Given the description of an element on the screen output the (x, y) to click on. 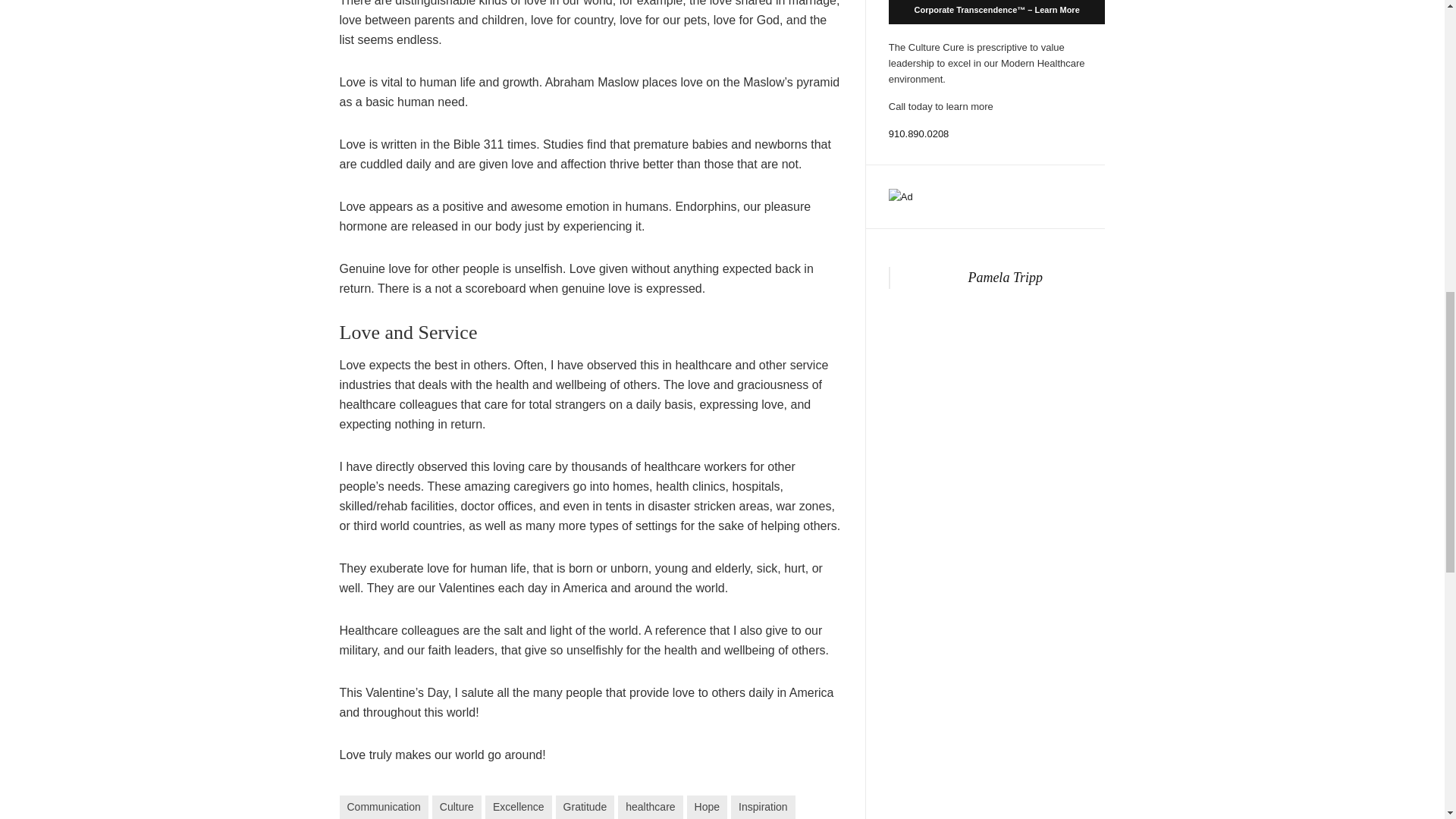
healthcare (649, 807)
Hope (706, 807)
Excellence (517, 807)
Communication (383, 807)
Gratitude (585, 807)
Inspiration (762, 807)
Culture (456, 807)
